Given the description of an element on the screen output the (x, y) to click on. 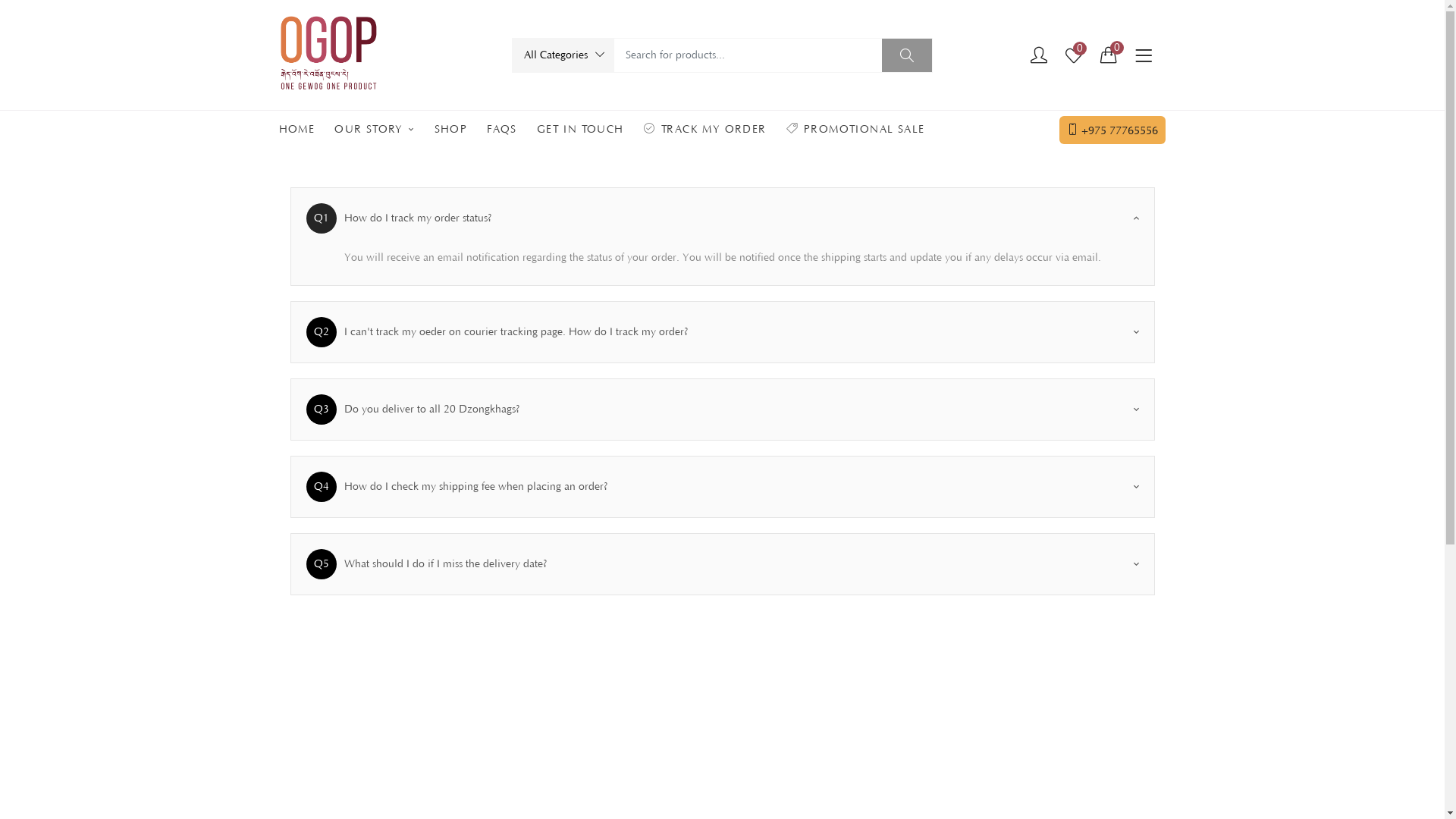
HOME Element type: text (302, 129)
SHOP Element type: text (450, 129)
Q4
How do I check my shipping fee when placing an order? Element type: text (714, 486)
Q3
Do you deliver to all 20 Dzongkhags? Element type: text (714, 409)
0 Element type: text (1108, 54)
GET IN TOUCH Element type: text (580, 129)
Q5
What should I do if I miss the delivery date? Element type: text (714, 564)
PROMOTIONAL SALE Element type: text (855, 129)
TRACK MY ORDER Element type: text (704, 129)
OUR STORY Element type: text (373, 129)
FAQS Element type: text (501, 129)
Q1
How do I track my order status? Element type: text (714, 218)
0 Element type: text (1073, 55)
